Given the description of an element on the screen output the (x, y) to click on. 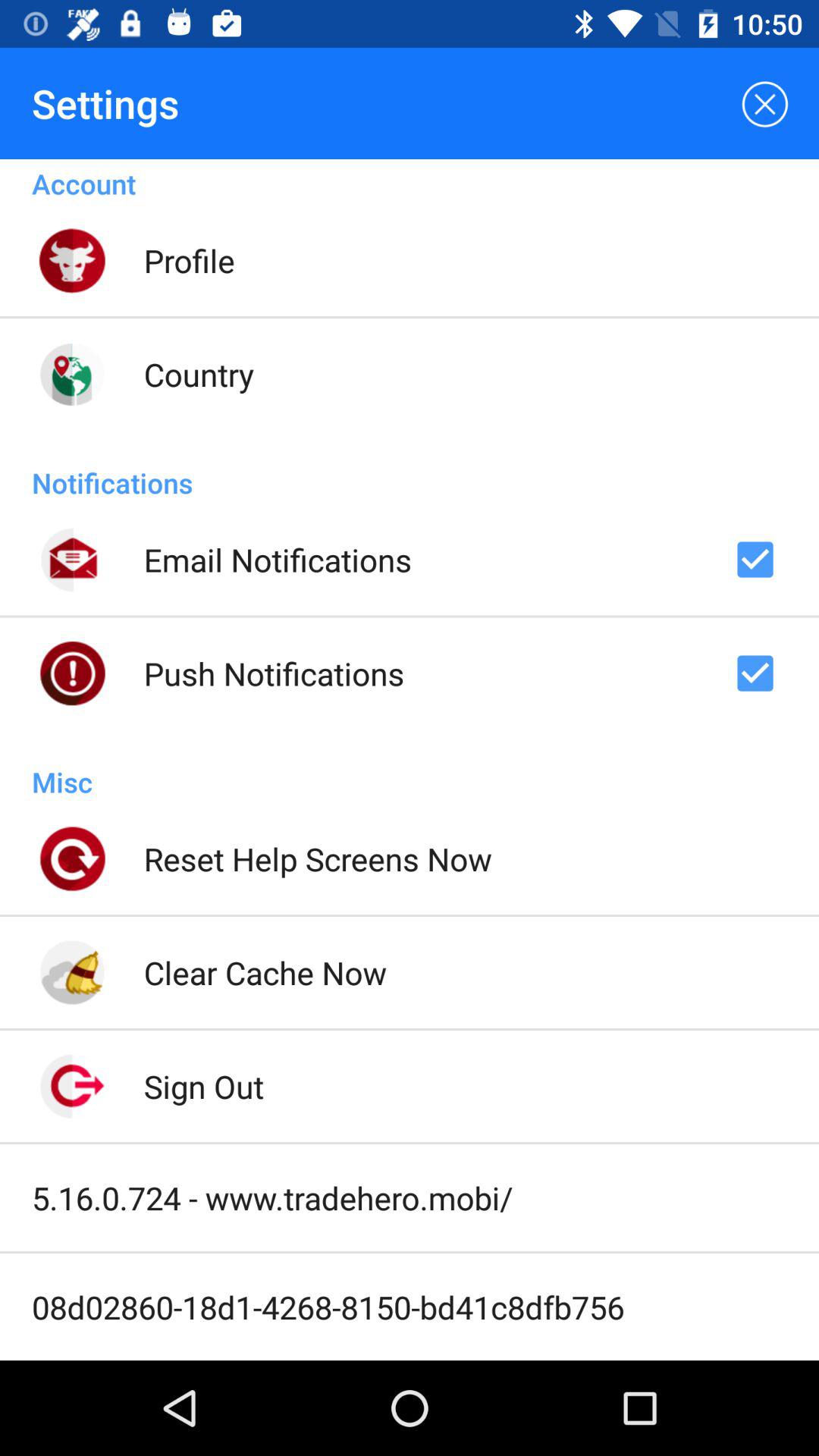
choose the profile (188, 260)
